Given the description of an element on the screen output the (x, y) to click on. 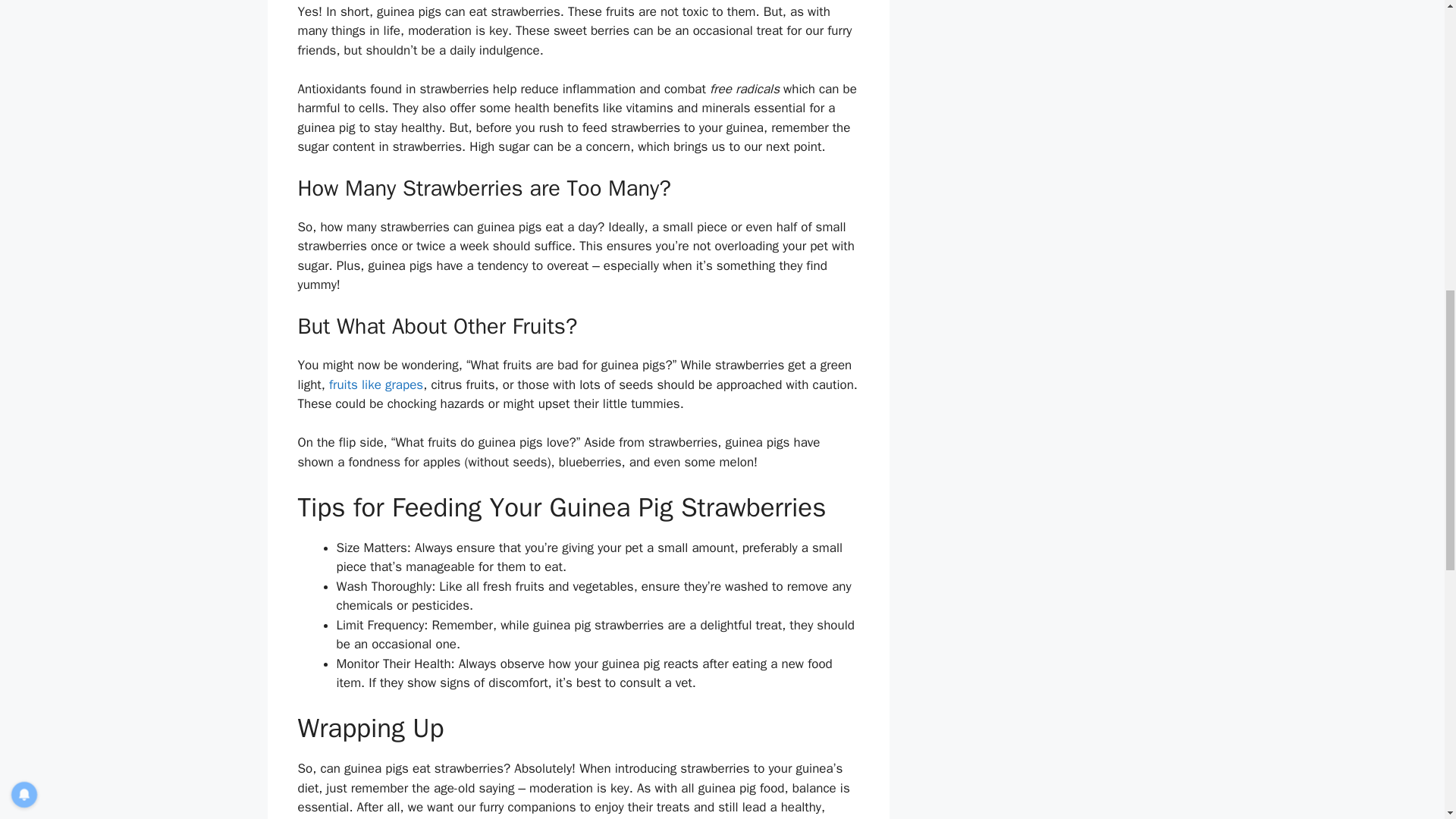
fruits like grapes (376, 384)
